Given the description of an element on the screen output the (x, y) to click on. 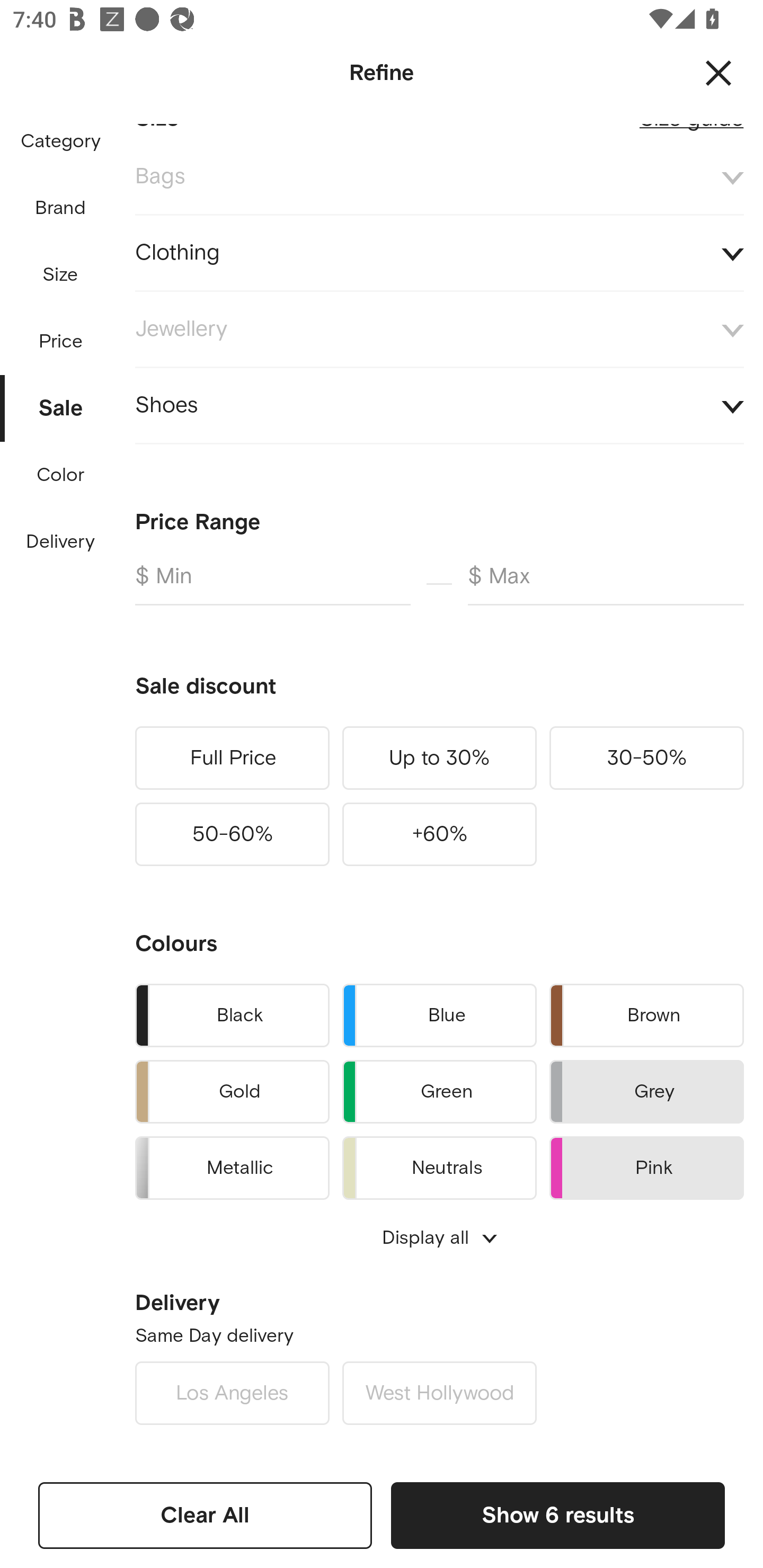
Category (60, 141)
Bags (439, 176)
Brand (60, 208)
Clothing (439, 252)
Size (60, 274)
Jewellery (439, 328)
Price (60, 337)
Shoes (439, 404)
Sale (60, 403)
Color (60, 475)
Delivery (60, 542)
$ Min (272, 583)
$ Max (605, 583)
Full Price (232, 757)
Up to 30% (439, 757)
30-50% (646, 757)
50-60% (232, 833)
+60% (439, 833)
Black (232, 1014)
Blue (439, 1014)
Brown (646, 1014)
Gold (232, 1091)
Green (439, 1091)
Grey (646, 1091)
Metallic (232, 1164)
Neutrals (439, 1164)
Pink (646, 1164)
Display all (439, 1237)
Los Angeles (232, 1392)
West Hollywood (439, 1392)
Clear All (205, 1515)
Show 6 results (557, 1515)
